Given the description of an element on the screen output the (x, y) to click on. 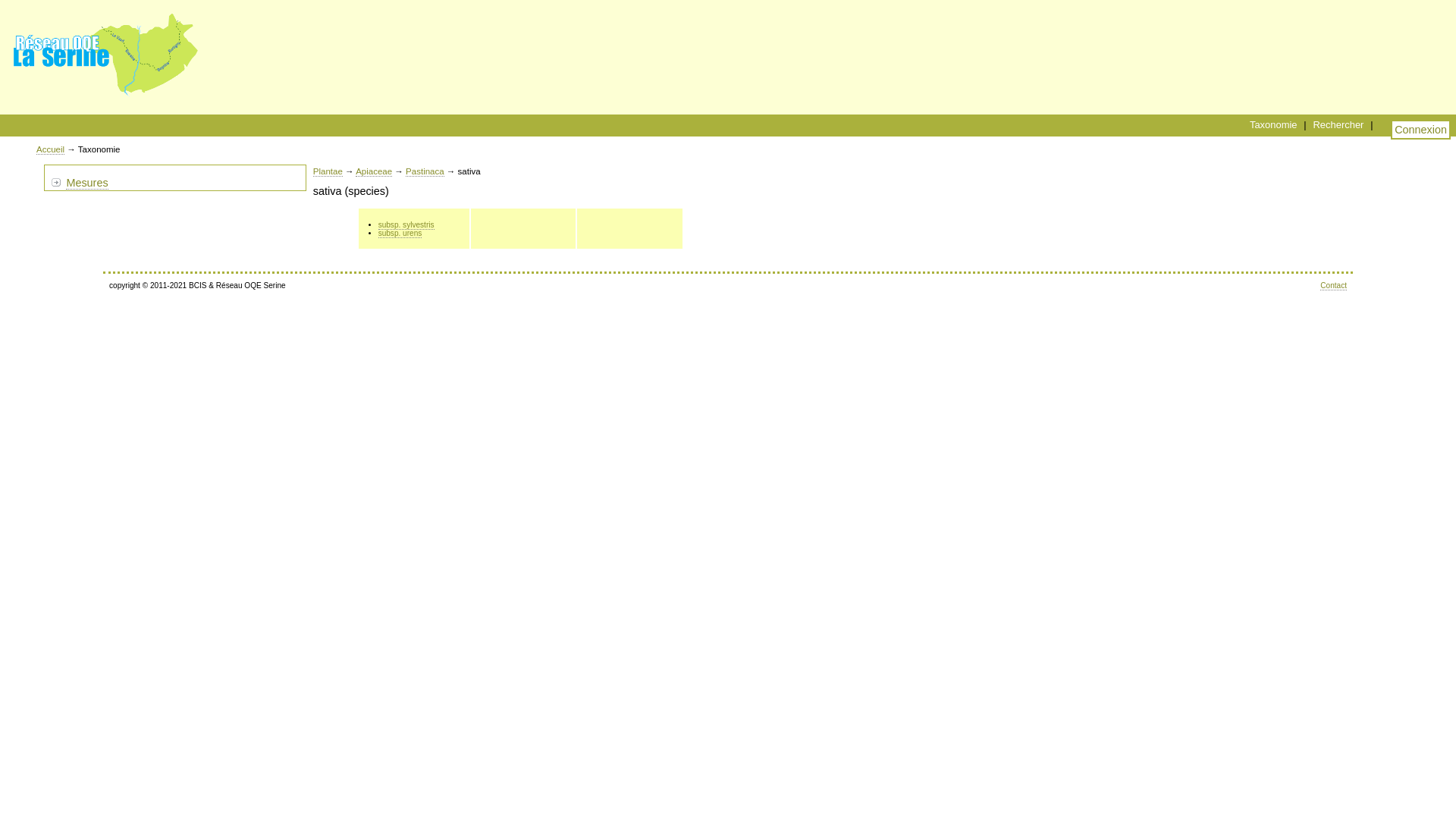
Rechercher Element type: text (1337, 124)
Plantae Element type: text (327, 171)
Apiaceae Element type: text (373, 171)
Connexion Element type: text (1420, 129)
Mesures Element type: text (86, 182)
Taxonomie Element type: text (1273, 124)
Pastinaca Element type: text (424, 171)
Contact Element type: text (1333, 285)
Accueil Element type: text (50, 149)
subsp. sylvestris Element type: text (406, 224)
subsp. urens Element type: text (400, 233)
